Given the description of an element on the screen output the (x, y) to click on. 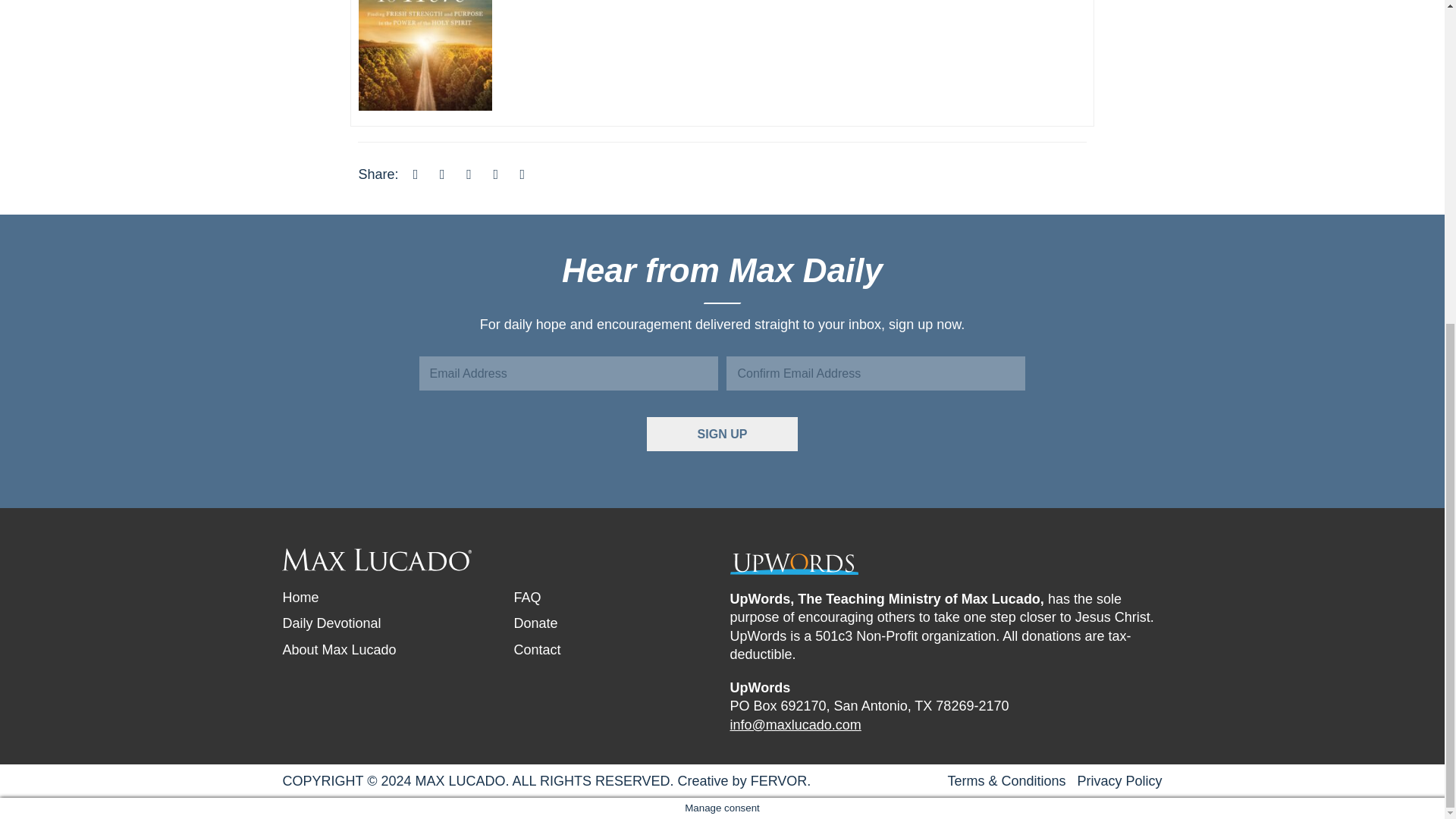
Facebook (415, 174)
Share via Pinterest (495, 174)
Sign Up (721, 433)
About Max Lucado (339, 649)
Sign Up (721, 433)
Help Is Here (425, 10)
Donate (535, 622)
Home (300, 597)
Share via Facebook (415, 174)
Share via Twitter (441, 174)
Pinterest (495, 174)
FAQ (526, 597)
Email (521, 174)
Email UpWords (794, 724)
LinkedIn (469, 174)
